Given the description of an element on the screen output the (x, y) to click on. 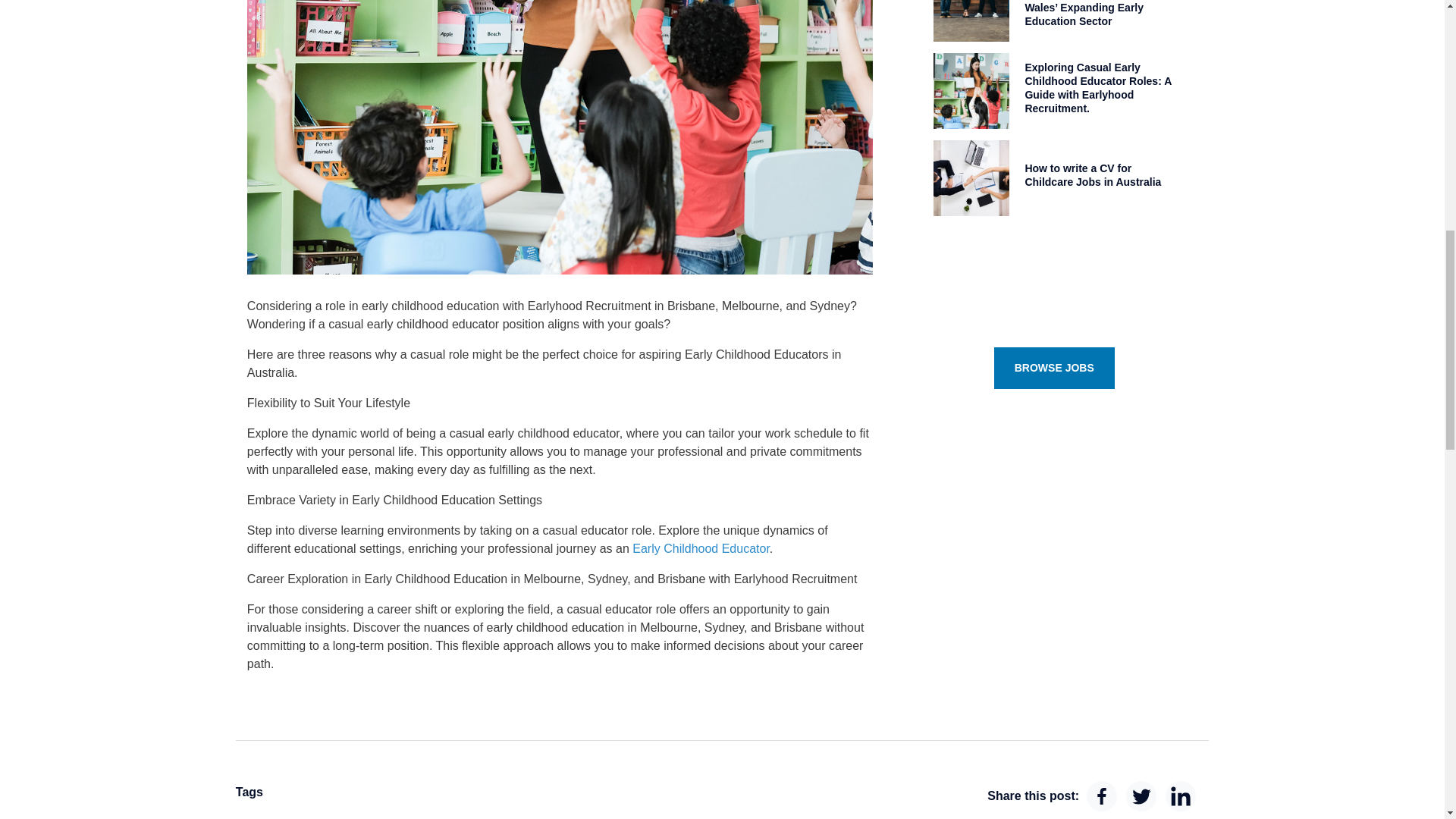
BROWSE JOBS (1054, 368)
Early Childhood Educator (700, 548)
Facebook (1101, 796)
Twitter (1140, 796)
Linkedin (1180, 796)
How to write a CV for Childcare Jobs in Australia (1092, 175)
